Given the description of an element on the screen output the (x, y) to click on. 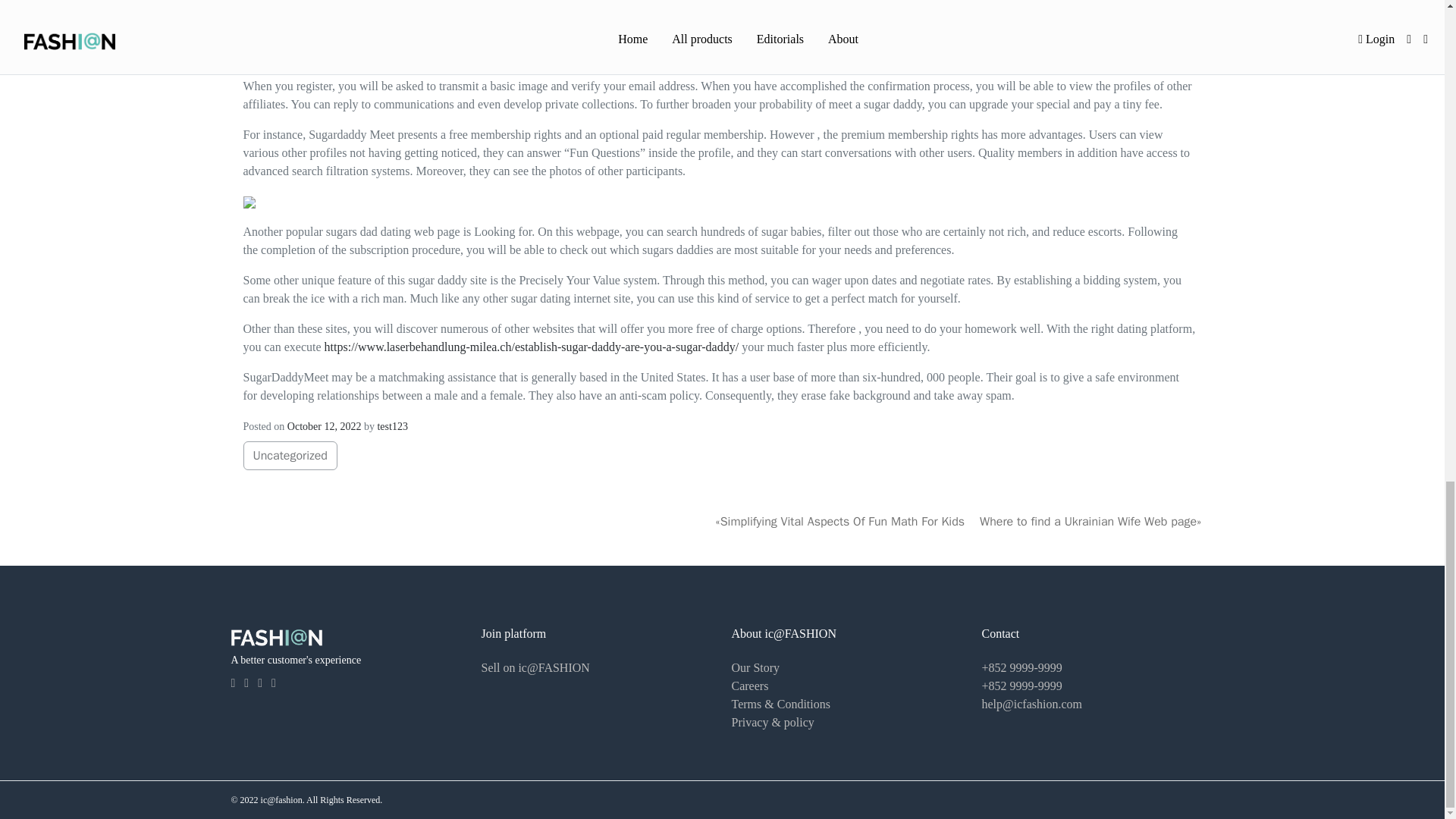
October 12, 2022 (323, 426)
Careers (749, 685)
Our Story (754, 667)
Simplifying Vital Aspects Of Fun Math For Kids (849, 521)
test123 (392, 426)
Uncategorized (289, 455)
Uncategorized (290, 455)
Where to find a Ukrainian Wife Web page (1087, 521)
